Given the description of an element on the screen output the (x, y) to click on. 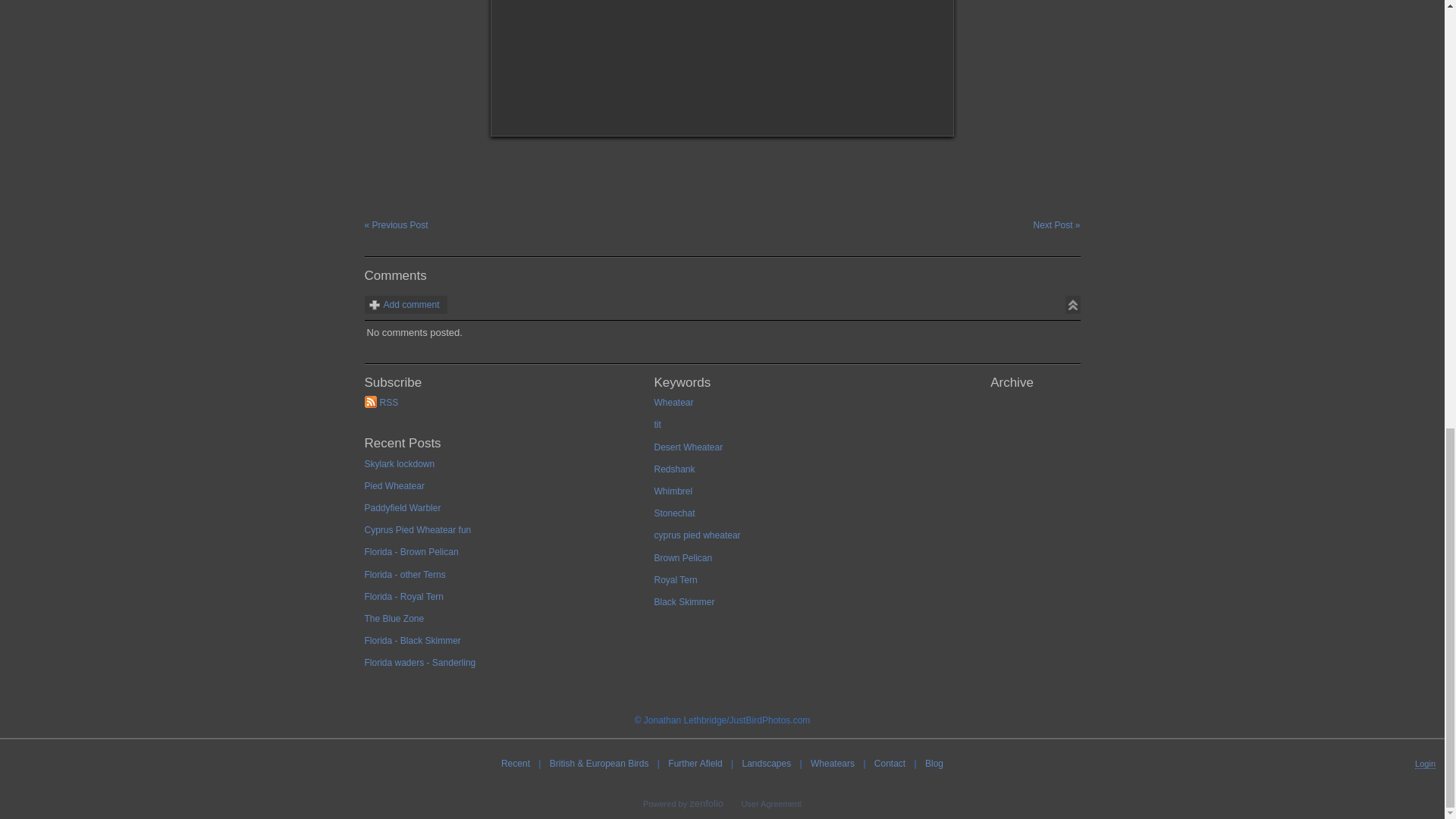
Pied Wheatear (503, 490)
Redshank (792, 473)
Cyprus Pied Wheatear fun (503, 534)
Wheatear (792, 406)
Florida - Royal Tern (503, 600)
Florida - other Terns (503, 578)
Whimbrel (792, 495)
The Blue Zone (503, 622)
RSS (503, 406)
tit (792, 428)
Skylark lockdown (503, 468)
Florida - Black Skimmer (503, 644)
Florida - Brown Pelican (503, 556)
Add comment (405, 304)
Paddyfield Warbler (503, 512)
